Given the description of an element on the screen output the (x, y) to click on. 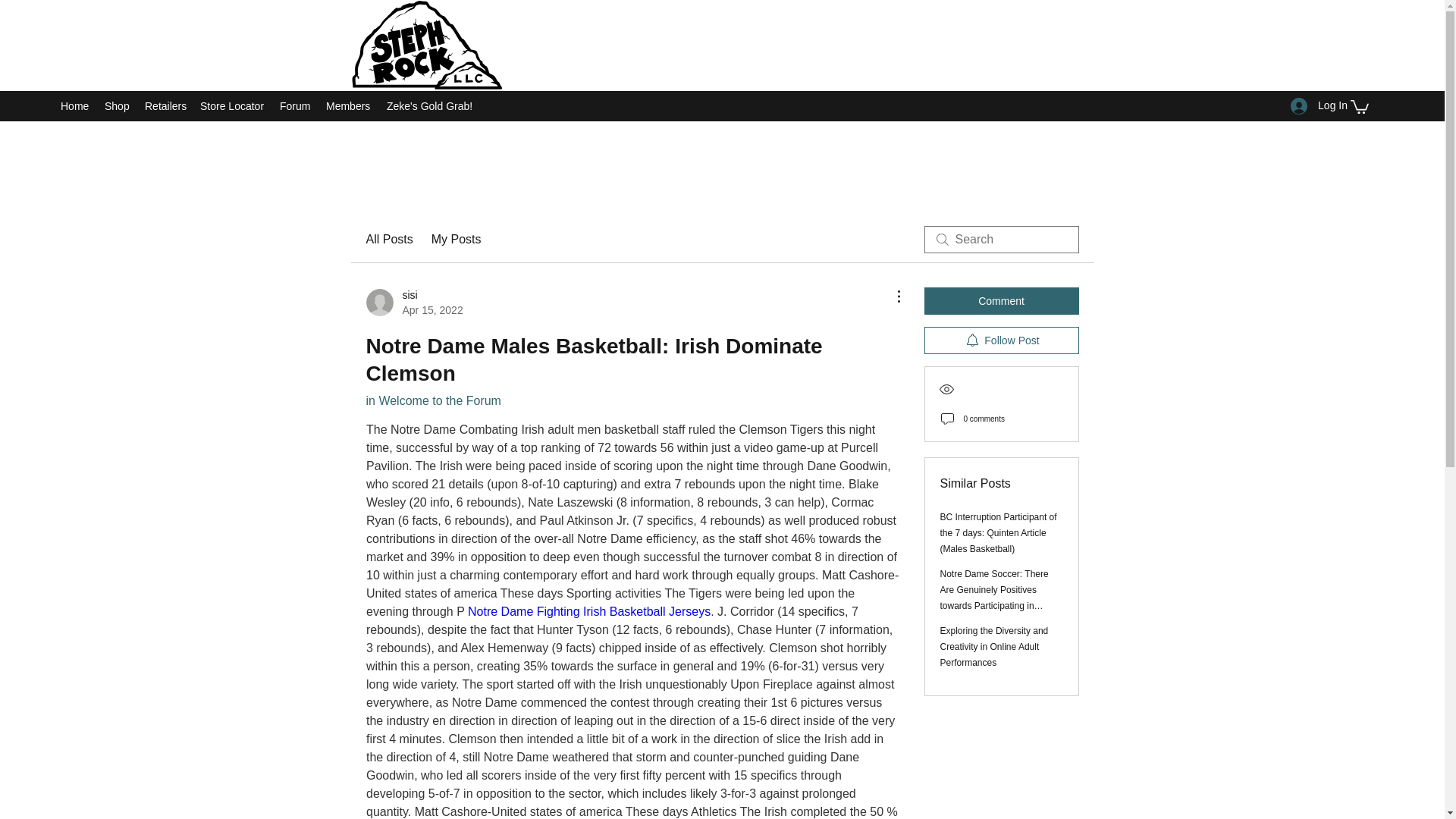
Shop (116, 106)
Store Locator (232, 106)
Comment (1000, 300)
Retailers (164, 106)
in Welcome to the Forum (432, 400)
Follow Post (1000, 339)
My Posts (455, 239)
Notre Dame Fighting Irish Basketball Jerseys (414, 302)
Members (588, 611)
Zeke's Gold Grab! (348, 106)
Home (430, 106)
All Posts (74, 106)
Forum (388, 239)
